Given the description of an element on the screen output the (x, y) to click on. 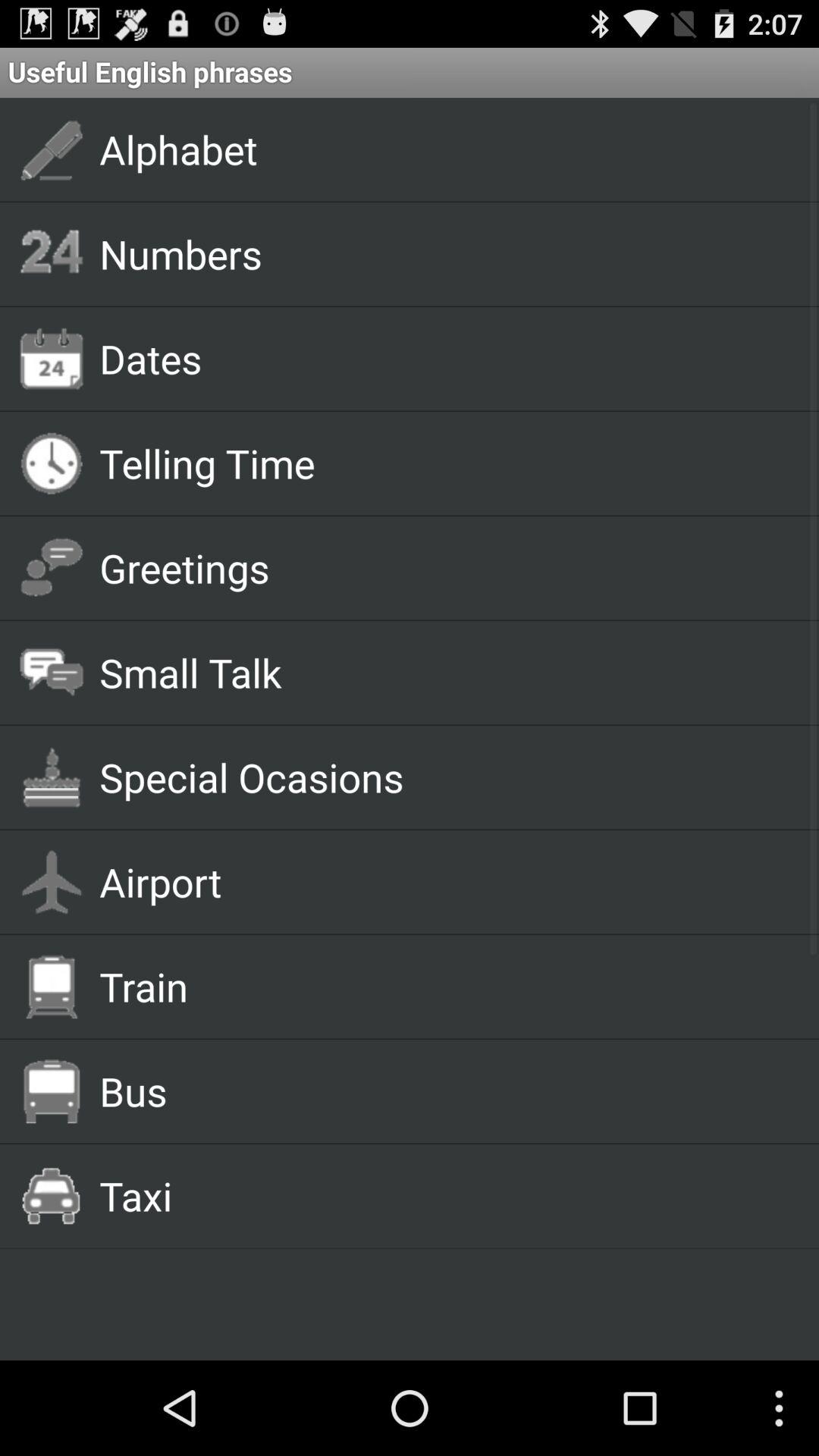
scroll to greetings icon (441, 567)
